Given the description of an element on the screen output the (x, y) to click on. 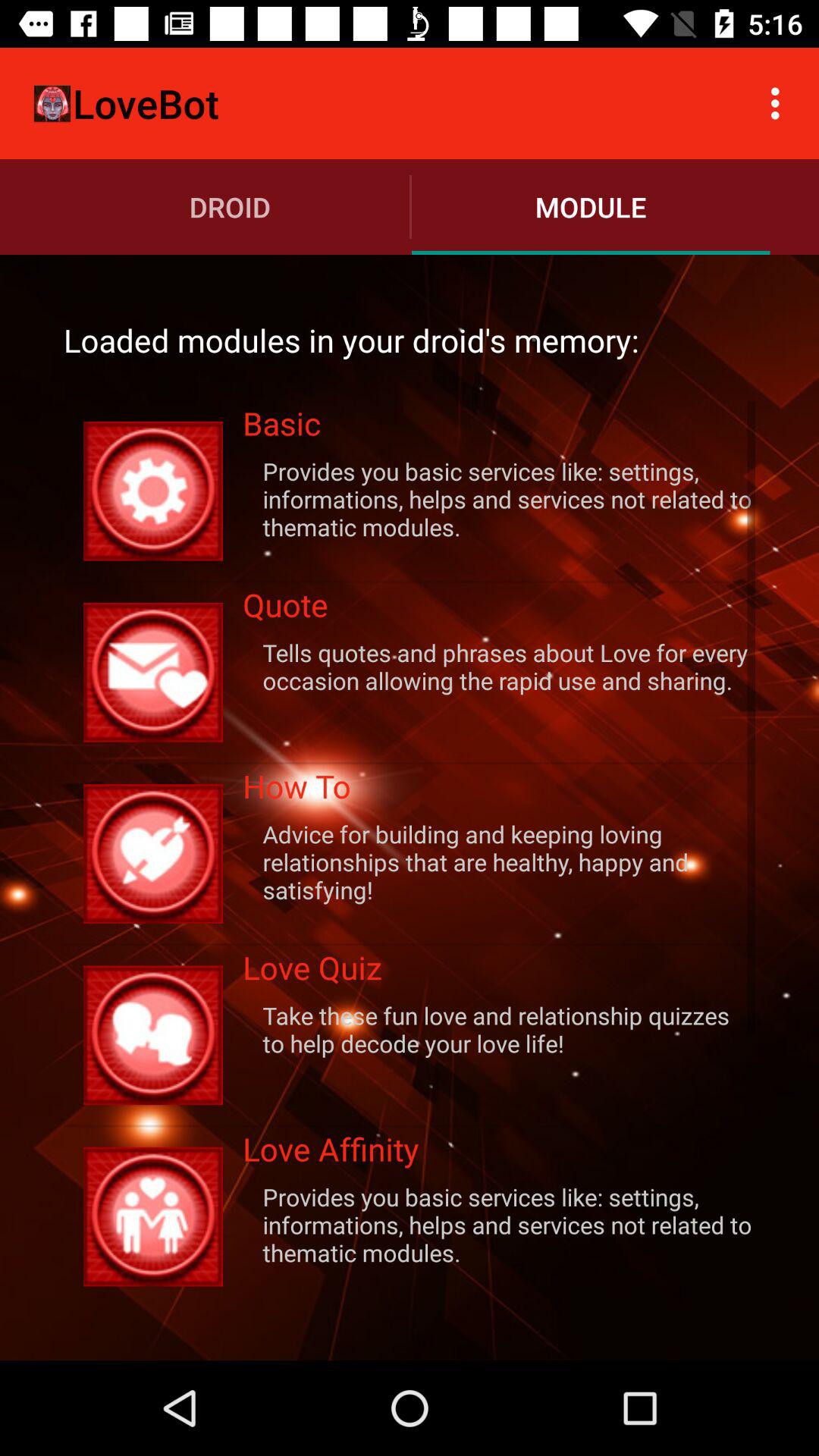
scroll until the tells quotes and (498, 666)
